Given the description of an element on the screen output the (x, y) to click on. 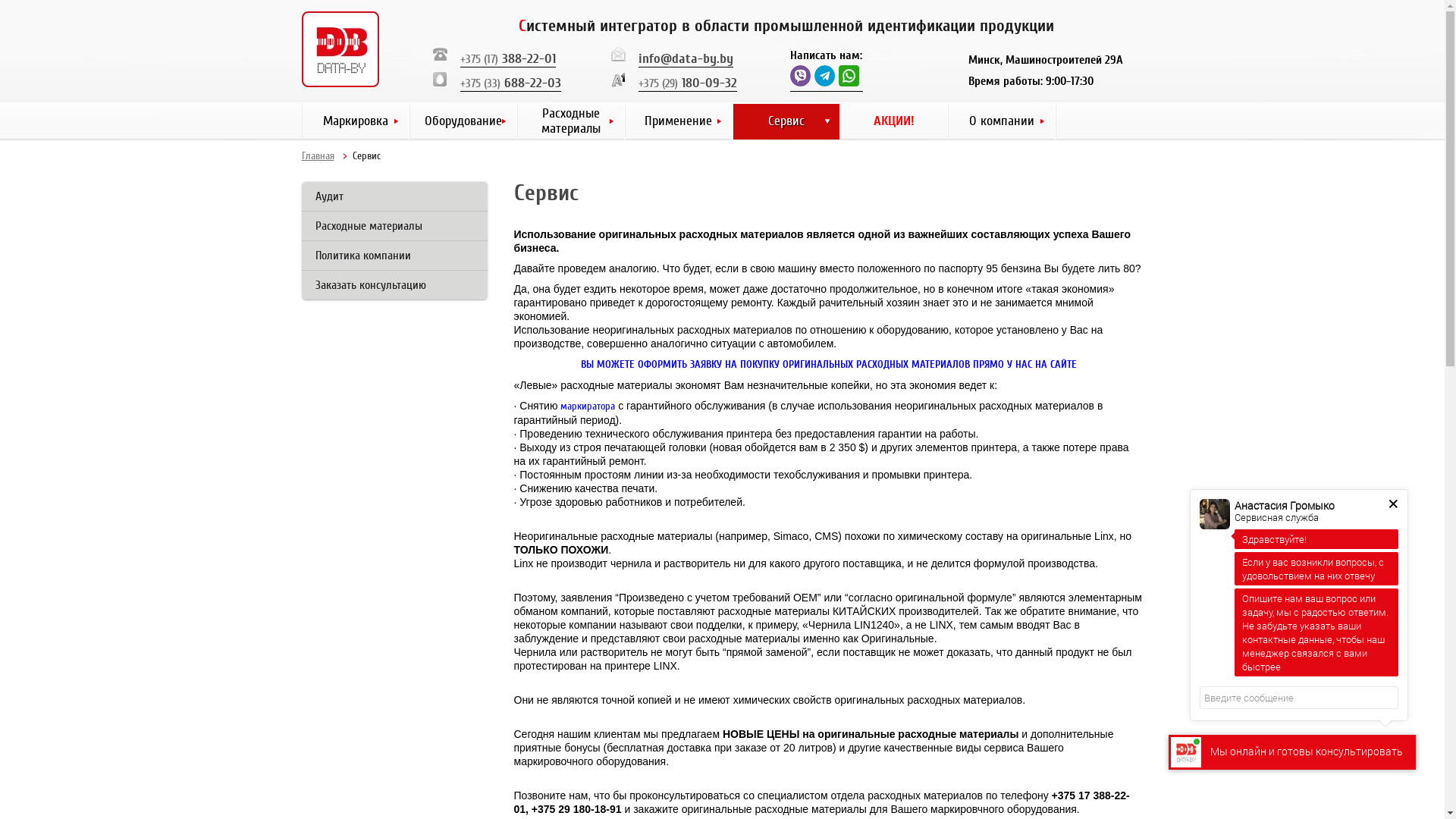
+375 (17) 388-22-01 Element type: text (507, 58)
+375 (33) 688-22-03 Element type: text (509, 83)
info@data-by.by Element type: text (685, 58)
+375 (29) 180-09-32 Element type: text (687, 83)
